Given the description of an element on the screen output the (x, y) to click on. 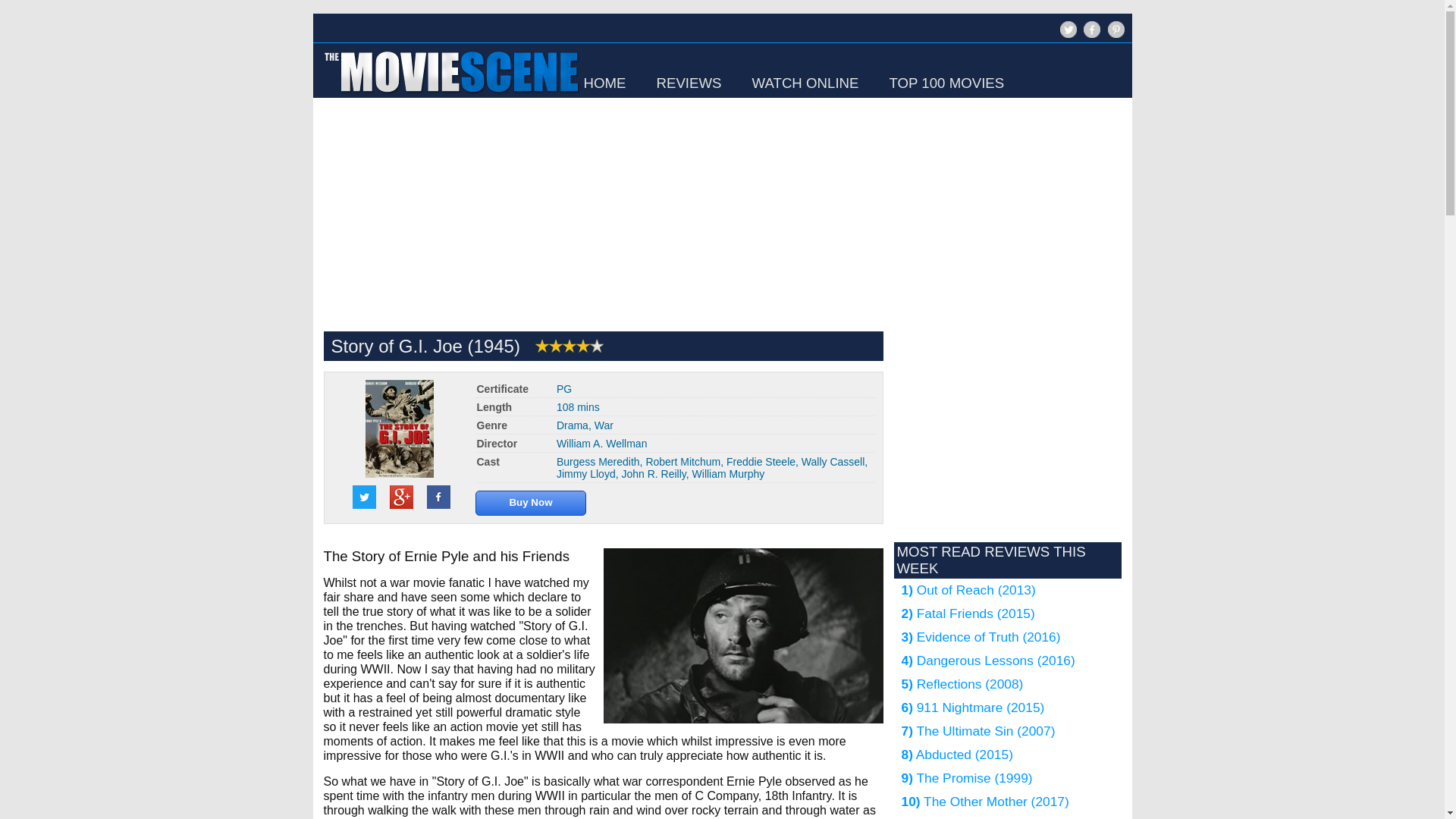
Burgess Meredith (598, 461)
Share on facebook (437, 496)
Like The Movie Scene on facebook (1091, 29)
Robert Mitchum (682, 461)
Wally Cassell (833, 461)
War movies (603, 425)
TOP 100 MOVIES (946, 83)
HOME (604, 83)
Freddie Steele (760, 461)
William A. Wellman (601, 443)
Follow The Movie Scene on Twitter (1068, 29)
Follow The Movie Scene on Pinterest (1115, 29)
Like The Movie Scene on facebook (1090, 37)
Drama movies (572, 425)
Follow The Movie Scene on Pinterest (1113, 37)
